Given the description of an element on the screen output the (x, y) to click on. 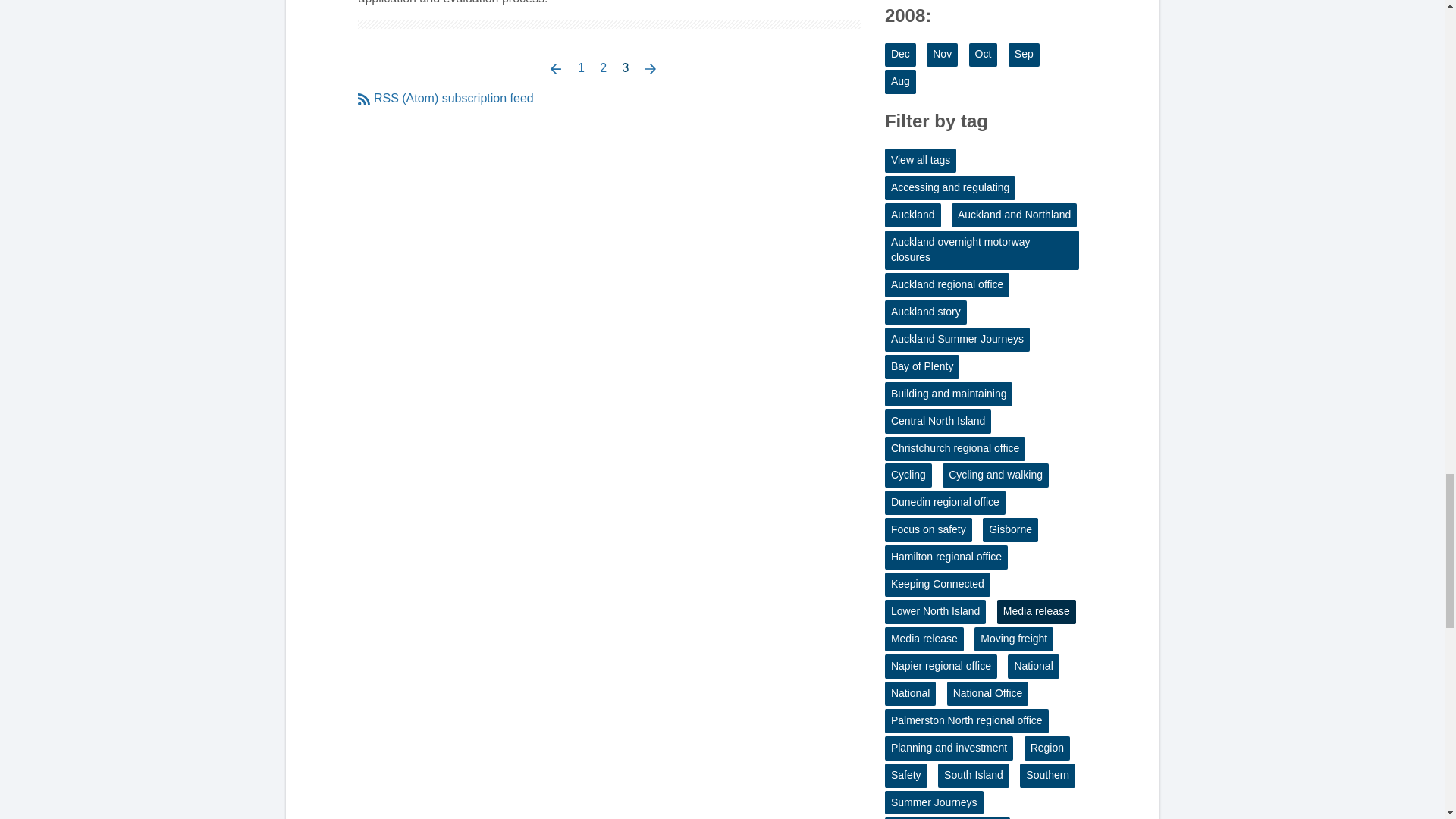
View items tagged Bay of Plenty (922, 366)
View items tagged Building and maintaining (949, 394)
View items tagged Auckland Summer Journeys (957, 339)
View items tagged Auckland regional office (947, 284)
View items tagged Dunedin regional office (945, 502)
View items tagged Central North Island (938, 421)
View items tagged Focus on safety (928, 529)
View items tagged Cycling and walking (995, 475)
View items tagged Hamilton regional office (946, 557)
View items tagged Cycling (908, 475)
View items tagged Auckland (912, 215)
View items tagged Christchurch regional office (955, 448)
View items tagged Gisborne (1010, 529)
View items tagged Auckland overnight motorway closures (981, 250)
View items tagged Auckland and Northland (1014, 215)
